Given the description of an element on the screen output the (x, y) to click on. 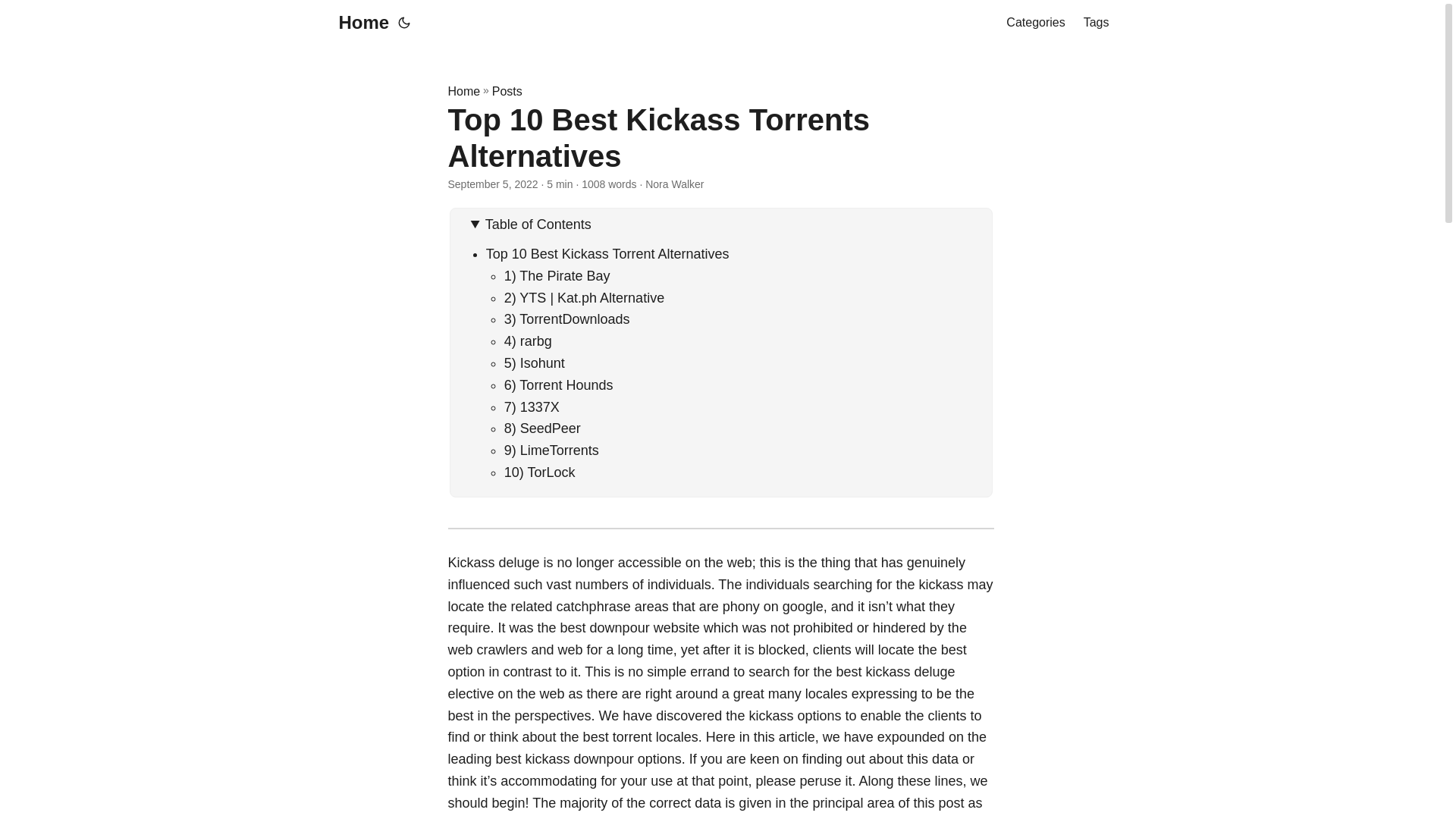
Posts (507, 91)
Categories (1035, 22)
Categories (1035, 22)
Home (359, 22)
Top 10 Best Kickass Torrent Alternatives (607, 253)
Home (463, 91)
